Given the description of an element on the screen output the (x, y) to click on. 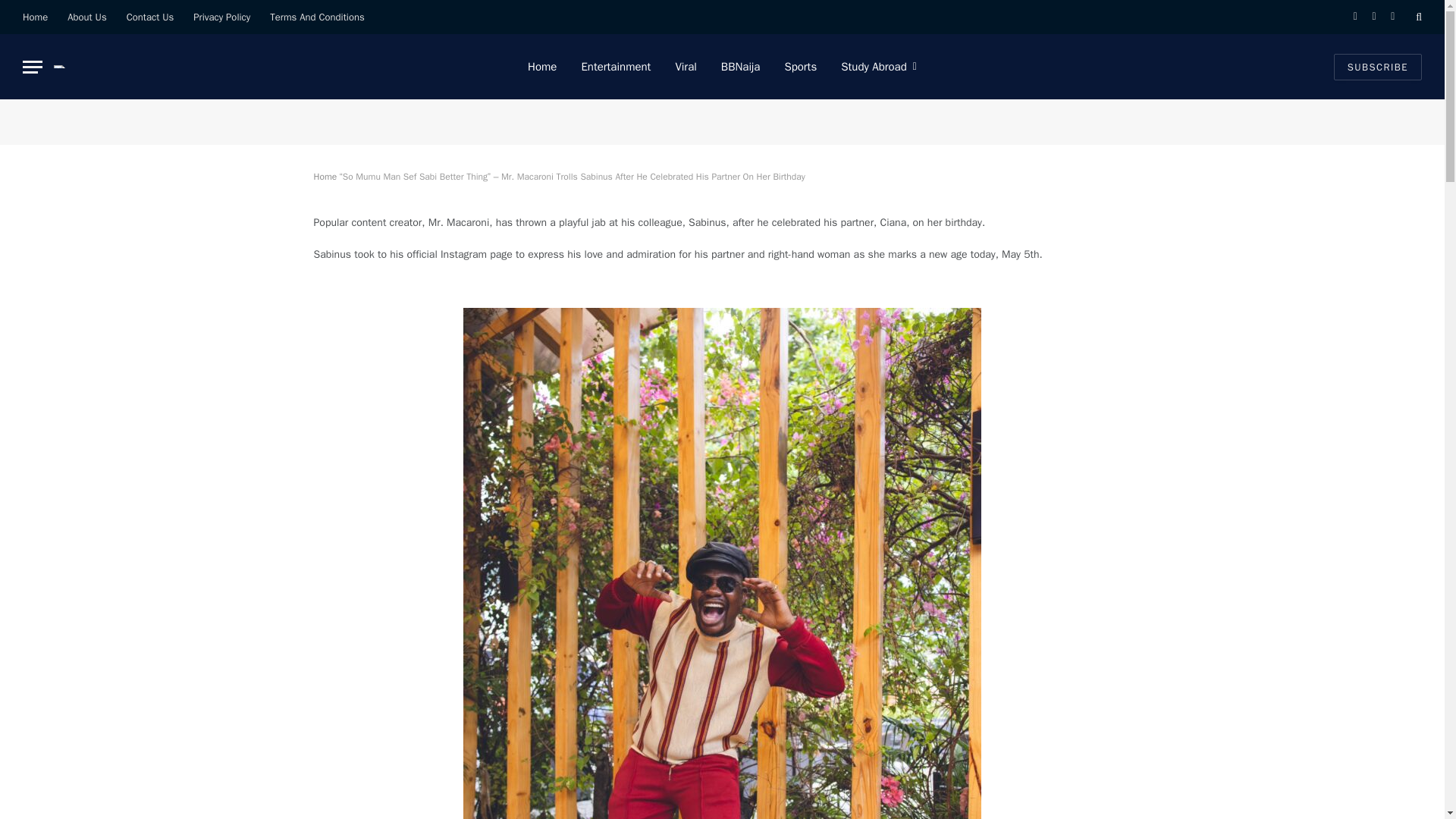
Contact Us (150, 17)
Privacy Policy (221, 17)
Entertainment (615, 66)
BBNaija (741, 66)
Home (35, 17)
SUBSCRIBE (1377, 66)
About Us (87, 17)
9JaGistreel.com (68, 66)
Terms And Conditions (317, 17)
Study Abroad (878, 66)
